Given the description of an element on the screen output the (x, y) to click on. 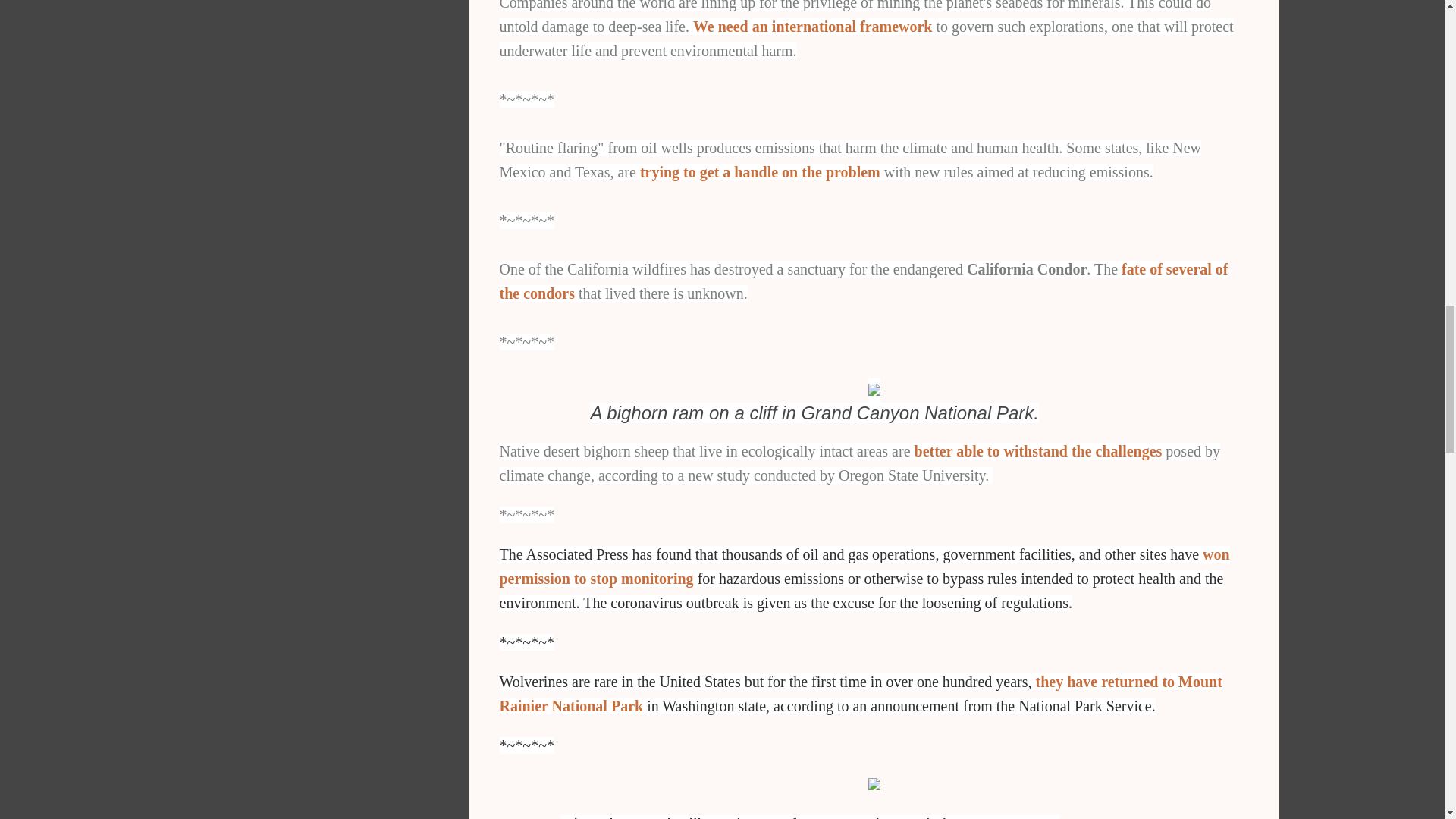
won permission to stop monitoring (863, 566)
better able to withstand the challenges (1037, 451)
trying to get a handle on the problem (760, 171)
they have returned to Mount Rainier National Park (860, 693)
fate of several of the condors (863, 281)
We need an international framework (813, 26)
